Given the description of an element on the screen output the (x, y) to click on. 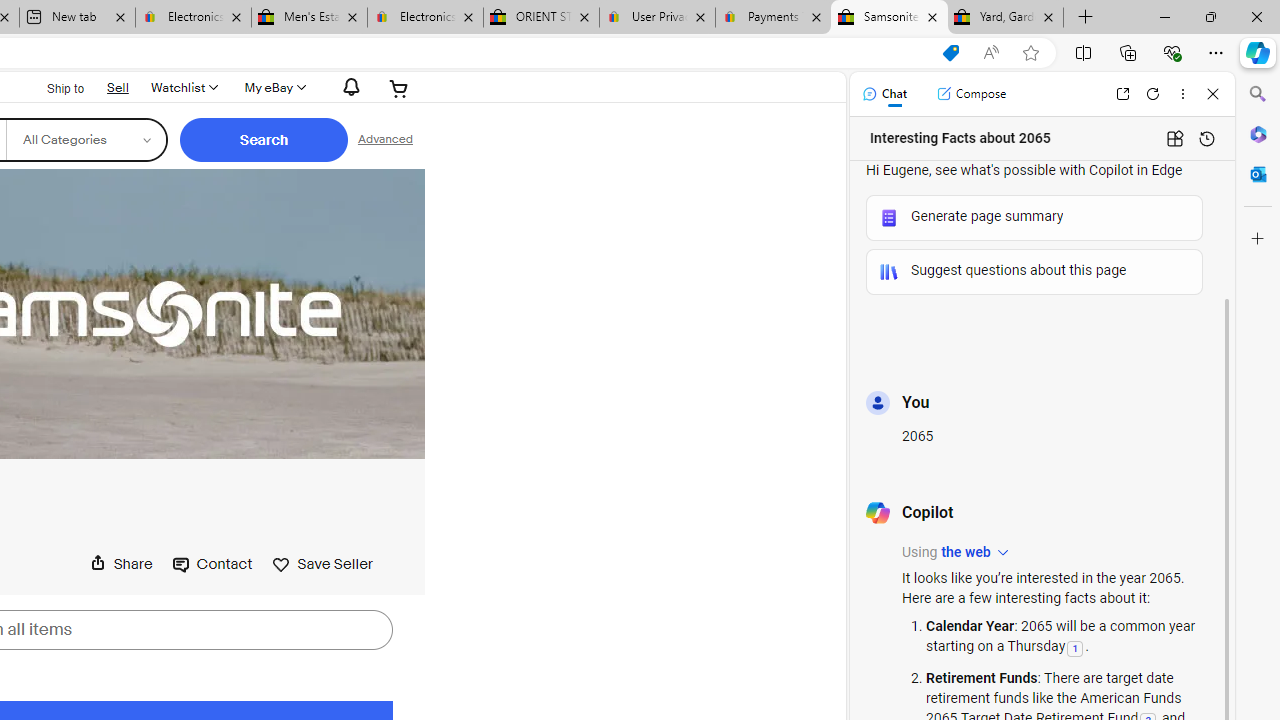
Watchlist (183, 88)
Your shopping cart (399, 88)
